Given the description of an element on the screen output the (x, y) to click on. 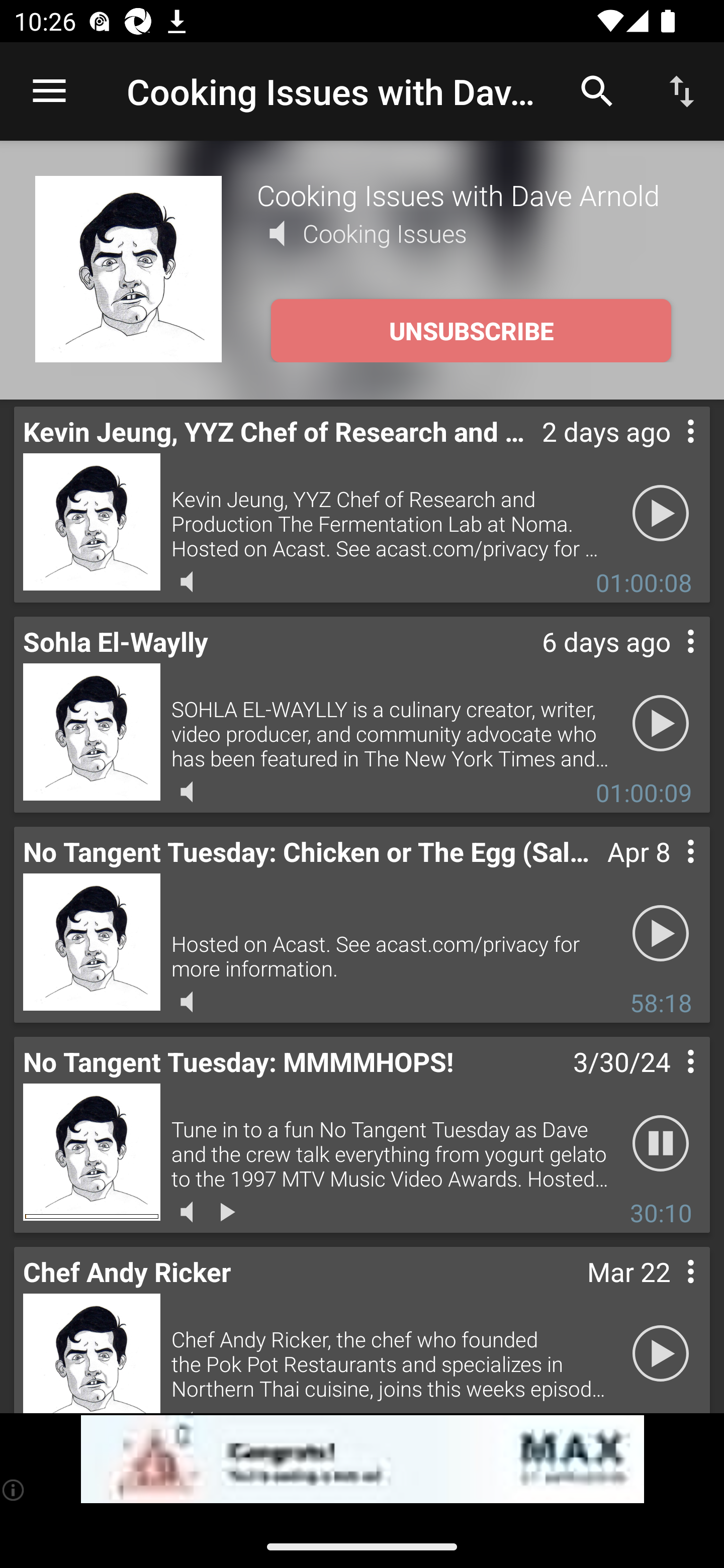
Open navigation sidebar (49, 91)
Search (597, 90)
Sort (681, 90)
UNSUBSCRIBE (470, 330)
Contextual menu (668, 451)
Play (660, 513)
Contextual menu (668, 661)
Play (660, 723)
Contextual menu (668, 870)
Play (660, 933)
Contextual menu (668, 1080)
Pause (660, 1143)
Contextual menu (668, 1290)
Play (660, 1353)
app-monetization (362, 1459)
(i) (14, 1489)
